Given the description of an element on the screen output the (x, y) to click on. 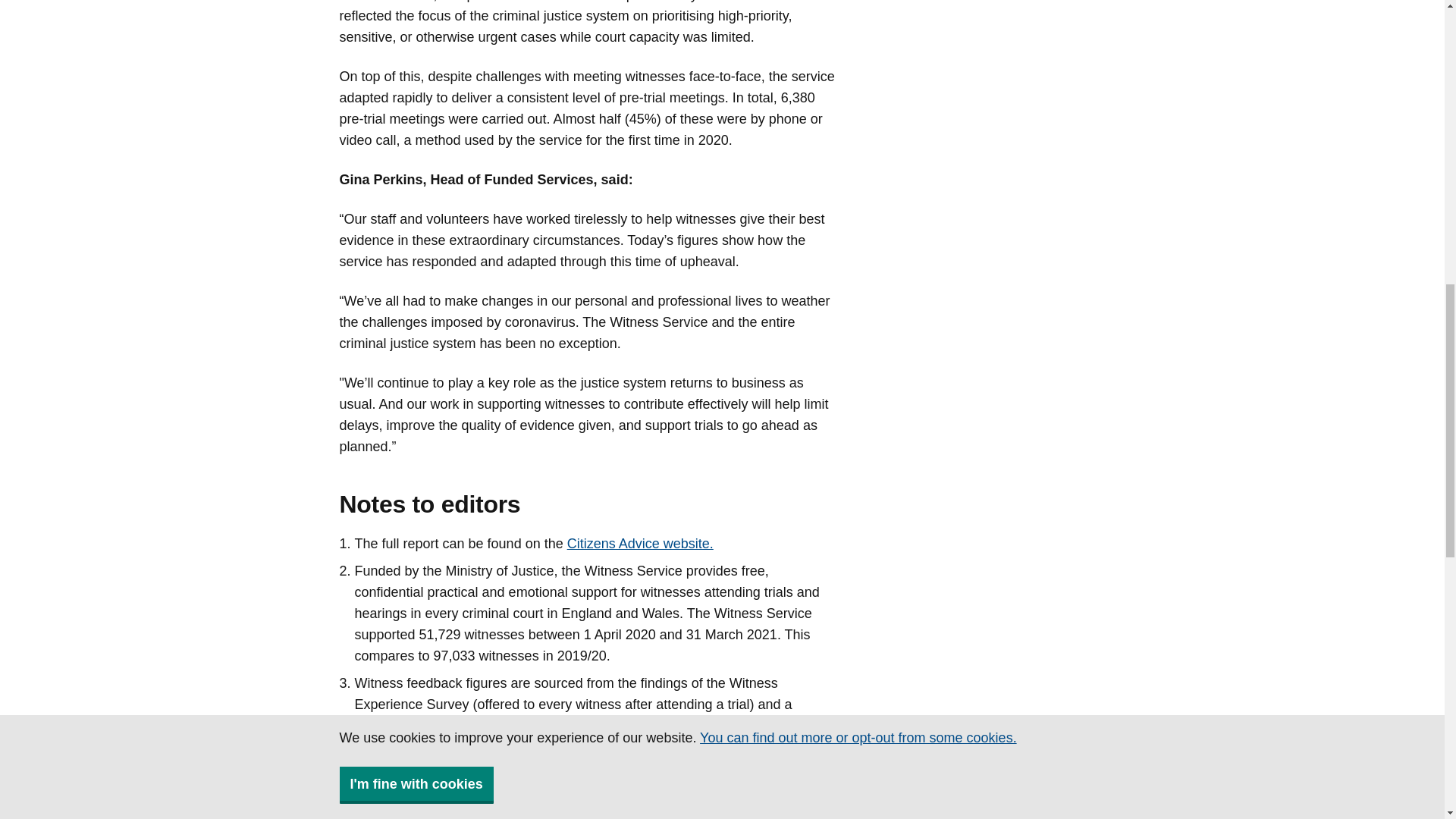
section 16 YJCEA (726, 795)
Citizens Advice website. (640, 543)
section 17 YJCEA (411, 814)
